Given the description of an element on the screen output the (x, y) to click on. 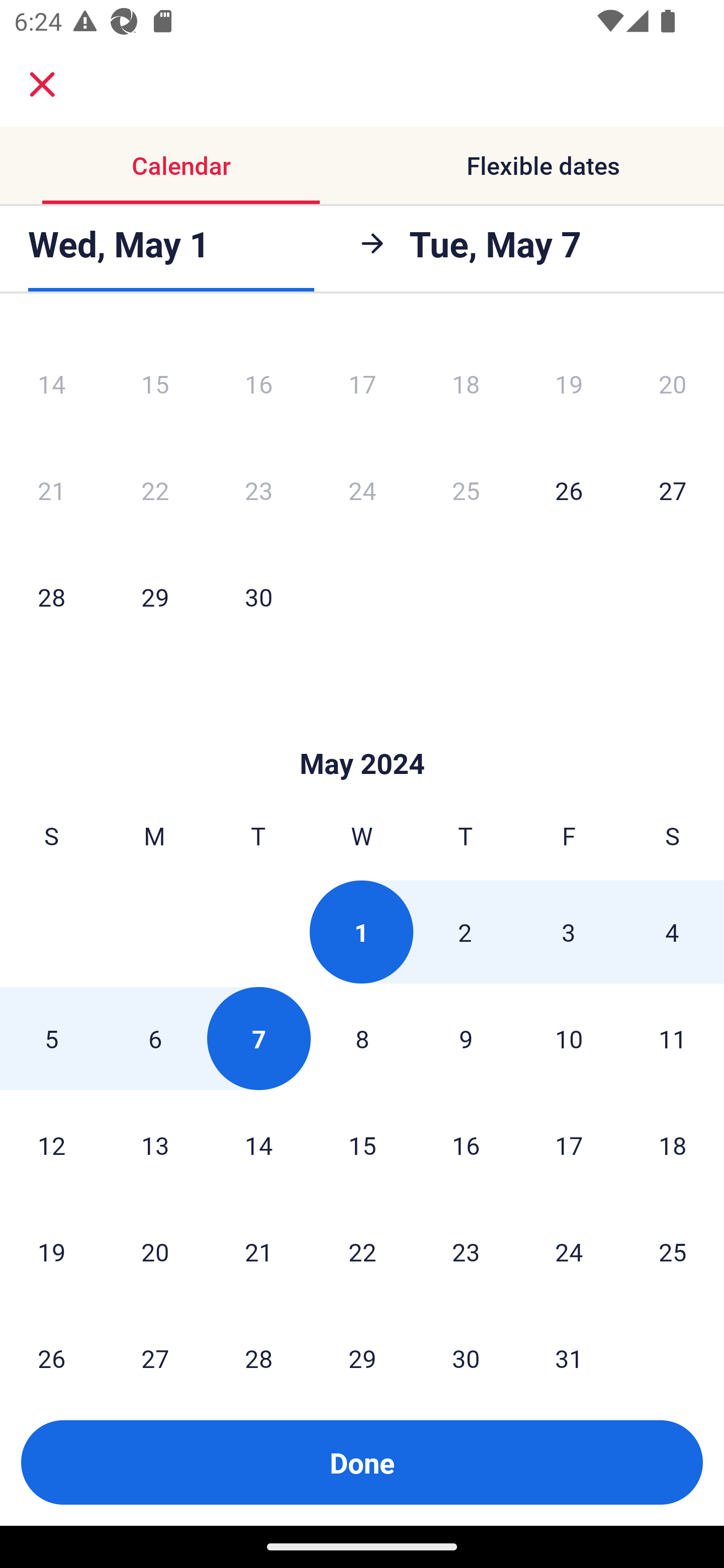
close. (42, 84)
Flexible dates (542, 164)
14 Sunday, April 14, 2024 (51, 383)
15 Monday, April 15, 2024 (155, 383)
16 Tuesday, April 16, 2024 (258, 383)
17 Wednesday, April 17, 2024 (362, 383)
18 Thursday, April 18, 2024 (465, 383)
19 Friday, April 19, 2024 (569, 383)
20 Saturday, April 20, 2024 (672, 383)
21 Sunday, April 21, 2024 (51, 490)
22 Monday, April 22, 2024 (155, 490)
23 Tuesday, April 23, 2024 (258, 490)
24 Wednesday, April 24, 2024 (362, 490)
25 Thursday, April 25, 2024 (465, 490)
26 Friday, April 26, 2024 (569, 490)
27 Saturday, April 27, 2024 (672, 490)
28 Sunday, April 28, 2024 (51, 596)
29 Monday, April 29, 2024 (155, 596)
30 Tuesday, April 30, 2024 (258, 596)
Skip to Done (362, 733)
8 Wednesday, May 8, 2024 (362, 1037)
9 Thursday, May 9, 2024 (465, 1037)
10 Friday, May 10, 2024 (569, 1037)
11 Saturday, May 11, 2024 (672, 1037)
12 Sunday, May 12, 2024 (51, 1144)
13 Monday, May 13, 2024 (155, 1144)
14 Tuesday, May 14, 2024 (258, 1144)
15 Wednesday, May 15, 2024 (362, 1144)
16 Thursday, May 16, 2024 (465, 1144)
17 Friday, May 17, 2024 (569, 1144)
18 Saturday, May 18, 2024 (672, 1144)
19 Sunday, May 19, 2024 (51, 1251)
20 Monday, May 20, 2024 (155, 1251)
21 Tuesday, May 21, 2024 (258, 1251)
22 Wednesday, May 22, 2024 (362, 1251)
23 Thursday, May 23, 2024 (465, 1251)
24 Friday, May 24, 2024 (569, 1251)
25 Saturday, May 25, 2024 (672, 1251)
26 Sunday, May 26, 2024 (51, 1342)
27 Monday, May 27, 2024 (155, 1342)
28 Tuesday, May 28, 2024 (258, 1342)
29 Wednesday, May 29, 2024 (362, 1342)
30 Thursday, May 30, 2024 (465, 1342)
31 Friday, May 31, 2024 (569, 1342)
Done (361, 1462)
